Given the description of an element on the screen output the (x, y) to click on. 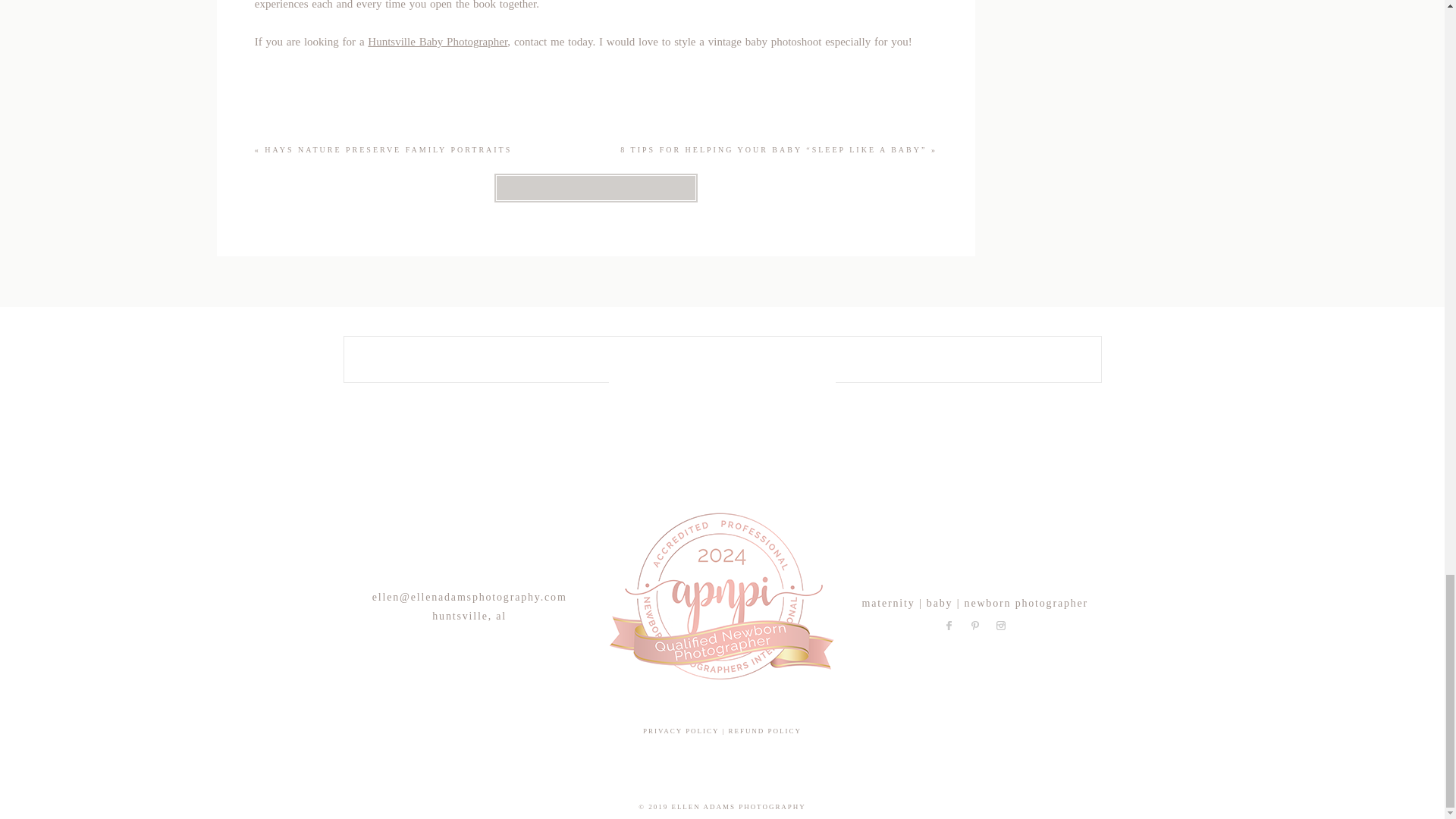
Huntsville Baby Photographer (437, 41)
REFUND POLICY (765, 730)
PRIVACY POLICY (681, 730)
HAYS NATURE PRESERVE FAMILY PORTRAITS (388, 149)
